Given the description of an element on the screen output the (x, y) to click on. 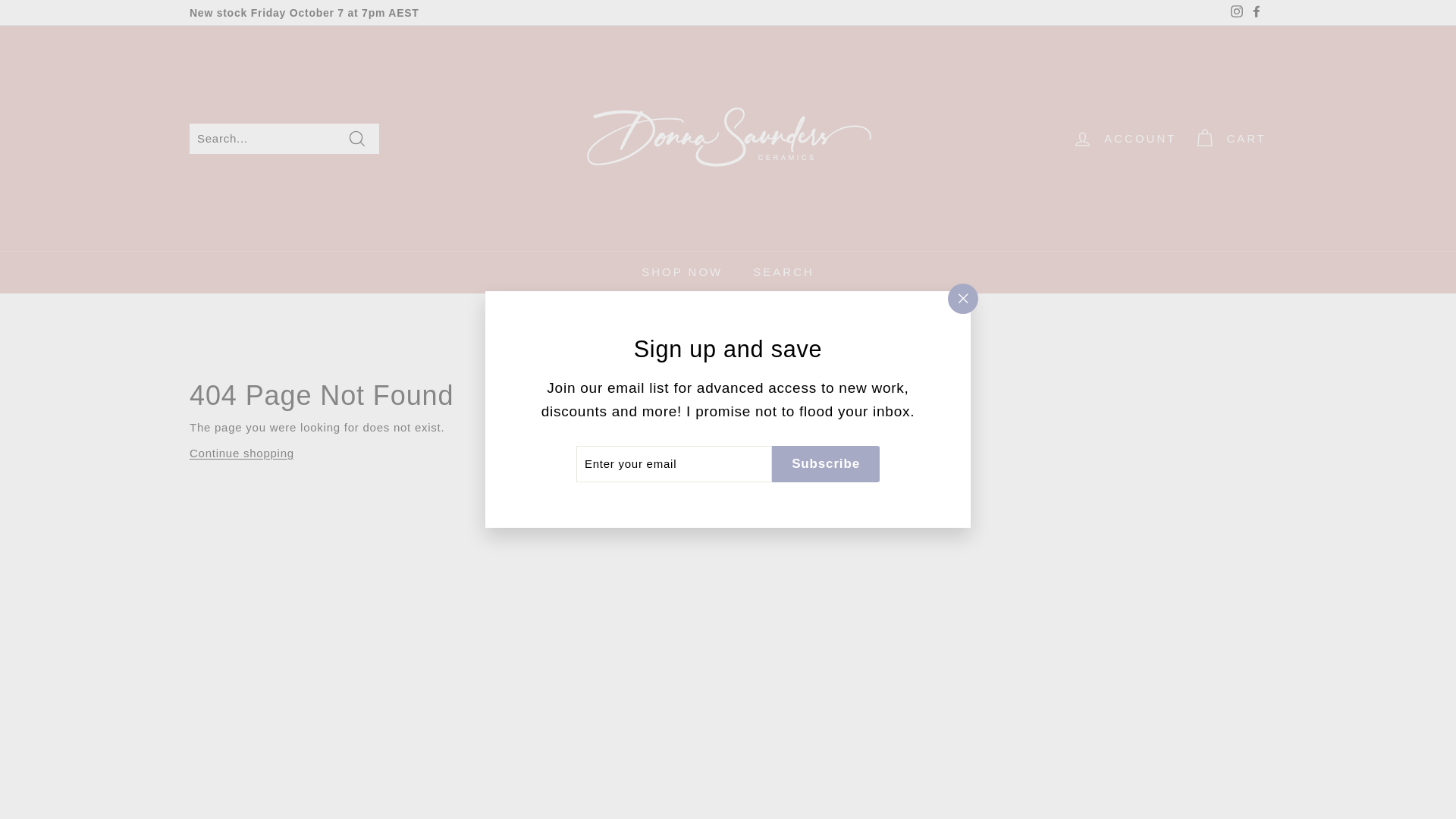
Instagram Element type: text (1236, 12)
"Close (esc)" Element type: text (962, 298)
SEARCH Element type: text (783, 272)
Subscribe Element type: text (825, 463)
ACCOUNT Element type: text (1124, 138)
Facebook Element type: text (1256, 12)
Skip to content Element type: text (0, 0)
SHOP NOW Element type: text (681, 272)
Continue shopping Element type: text (241, 452)
